Given the description of an element on the screen output the (x, y) to click on. 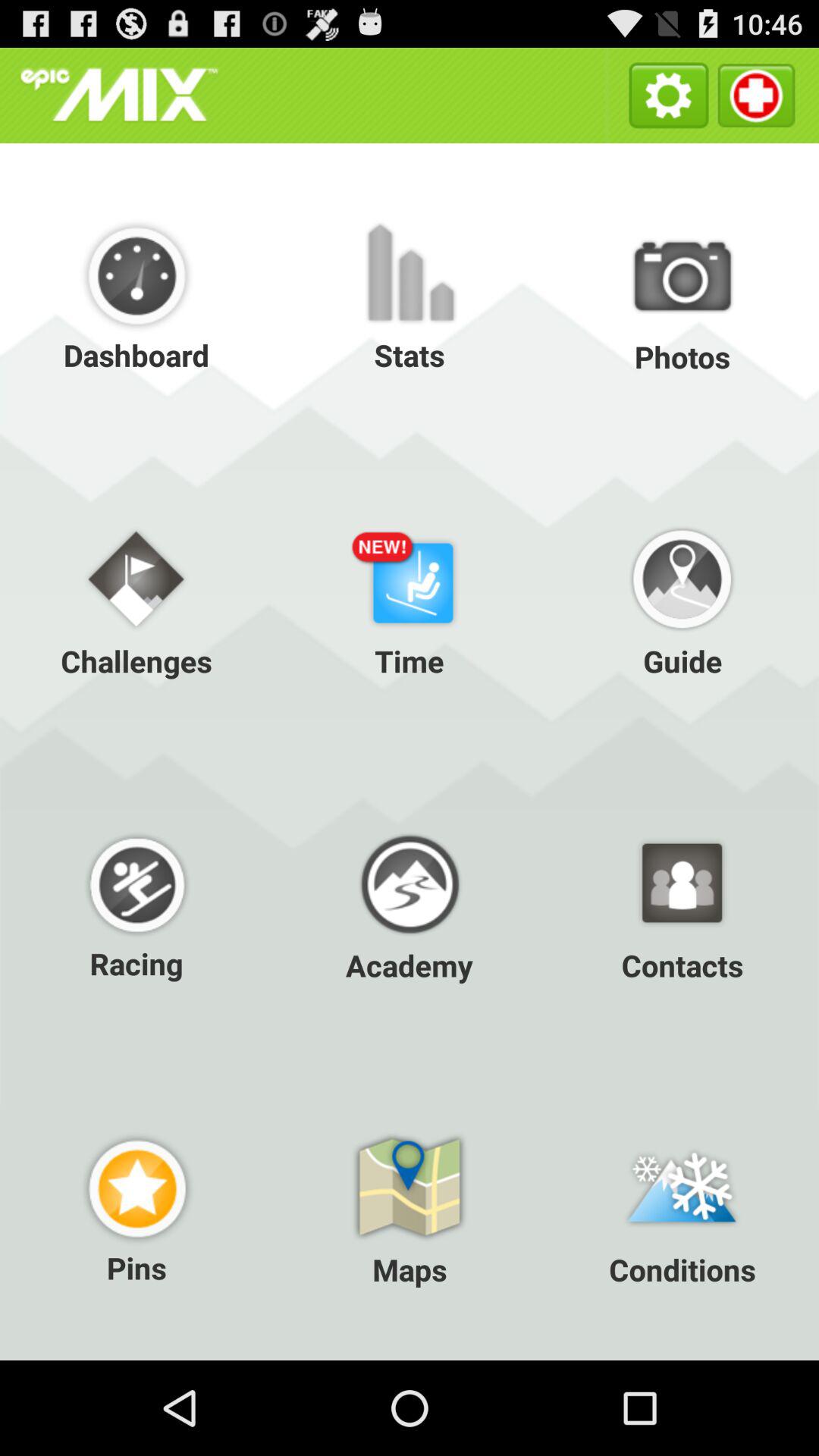
tap item below photos icon (409, 599)
